Given the description of an element on the screen output the (x, y) to click on. 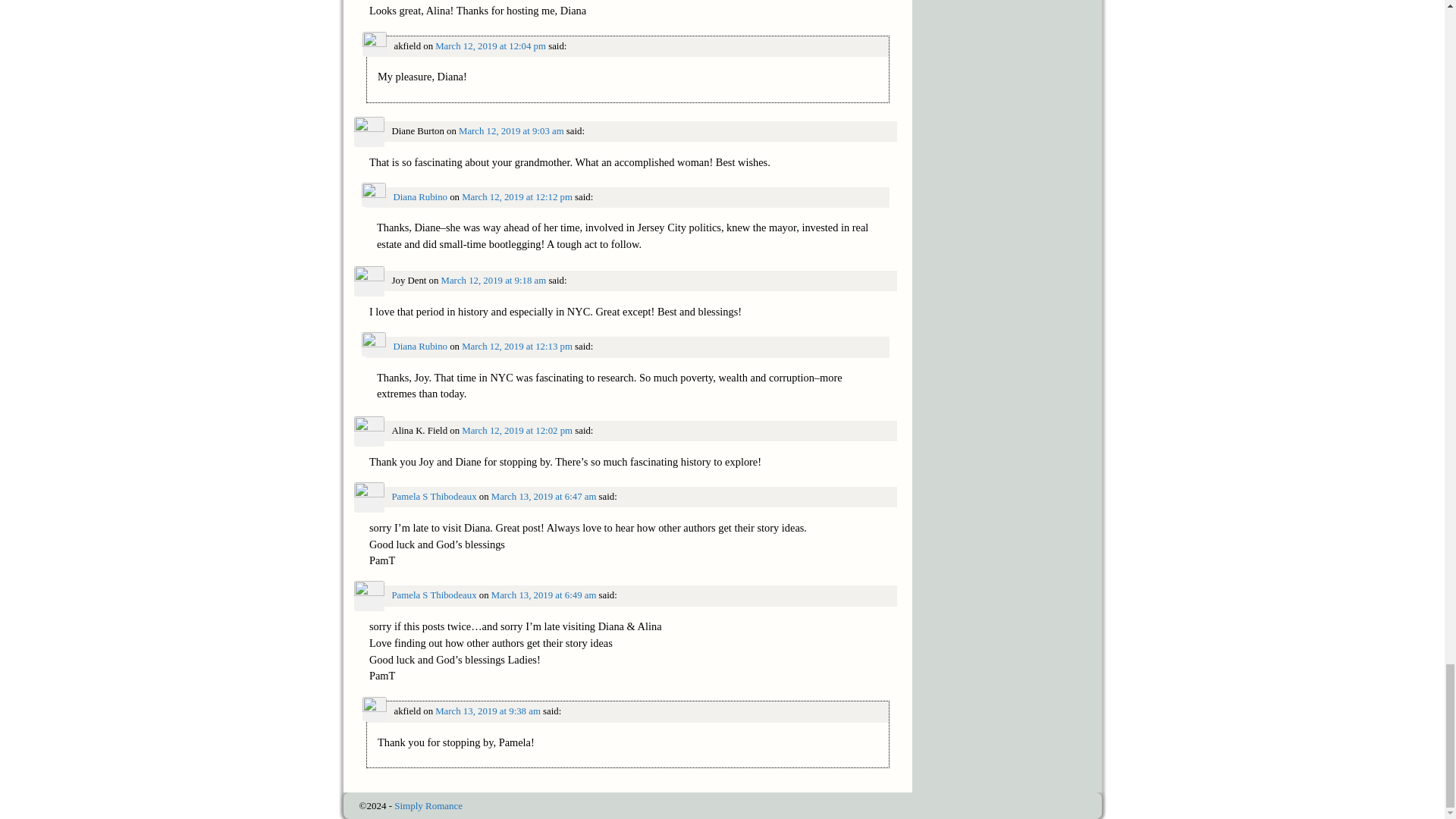
Simply Romance (428, 805)
